Given the description of an element on the screen output the (x, y) to click on. 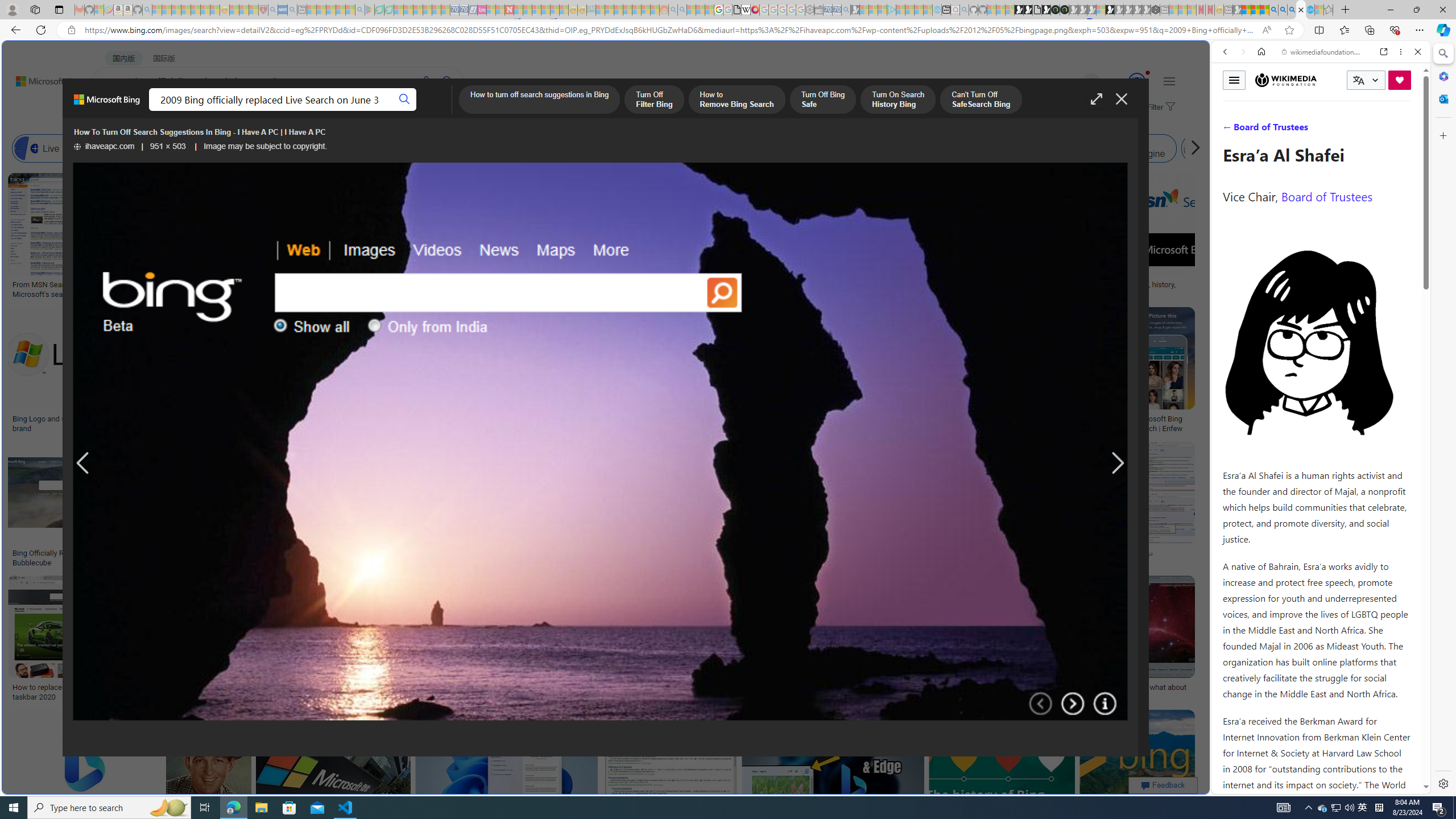
Class: b_pri_nav_svg (240, 112)
Turn Off Filter Bing (654, 100)
google_privacy_policy_zh-CN.pdf (736, 9)
Bing (2009) (RARE/FAKE) - YouTube (942, 552)
Robert H. Shmerling, MD - Harvard Health - Sleeping (263, 9)
google - Search - Sleeping (359, 9)
Bing - SEOLend (219, 552)
Search button (404, 99)
Search Filter, IMAGES (1262, 129)
